Given the description of an element on the screen output the (x, y) to click on. 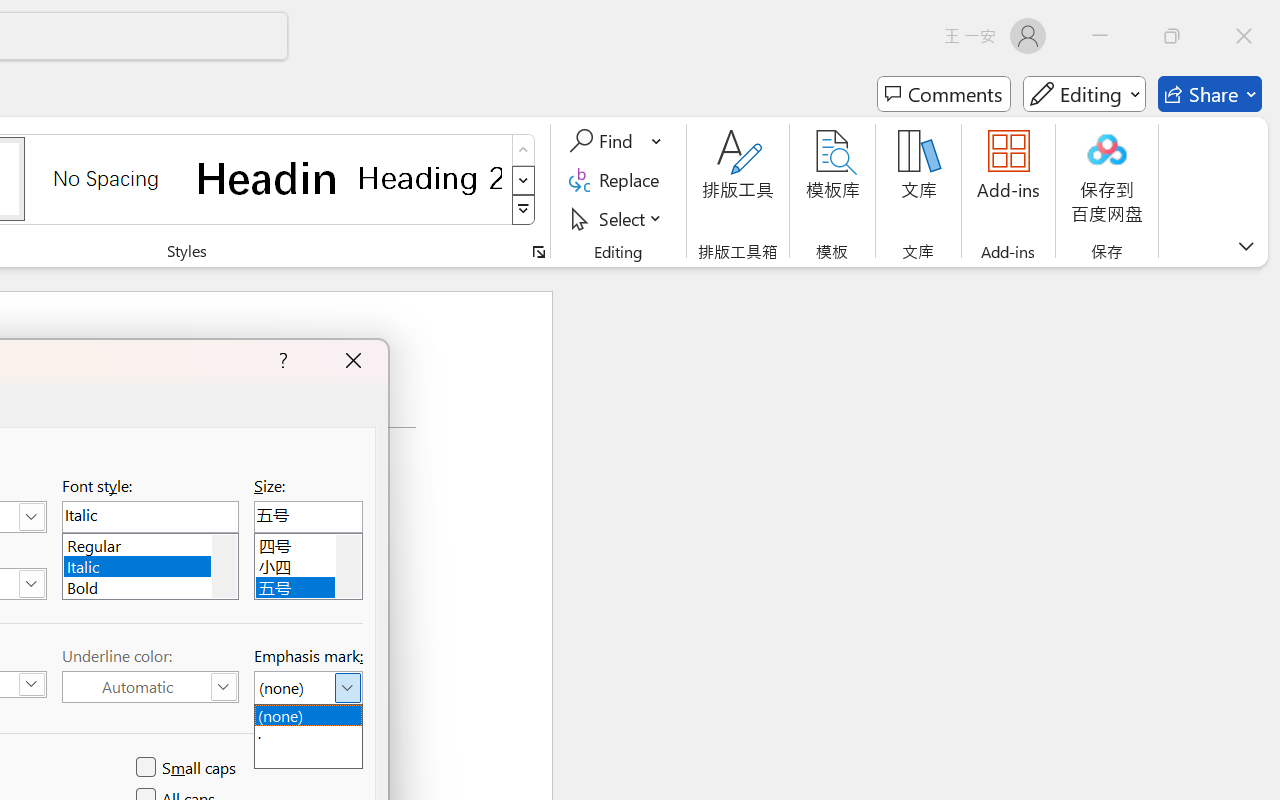
RichEdit Control (308, 516)
